Given the description of an element on the screen output the (x, y) to click on. 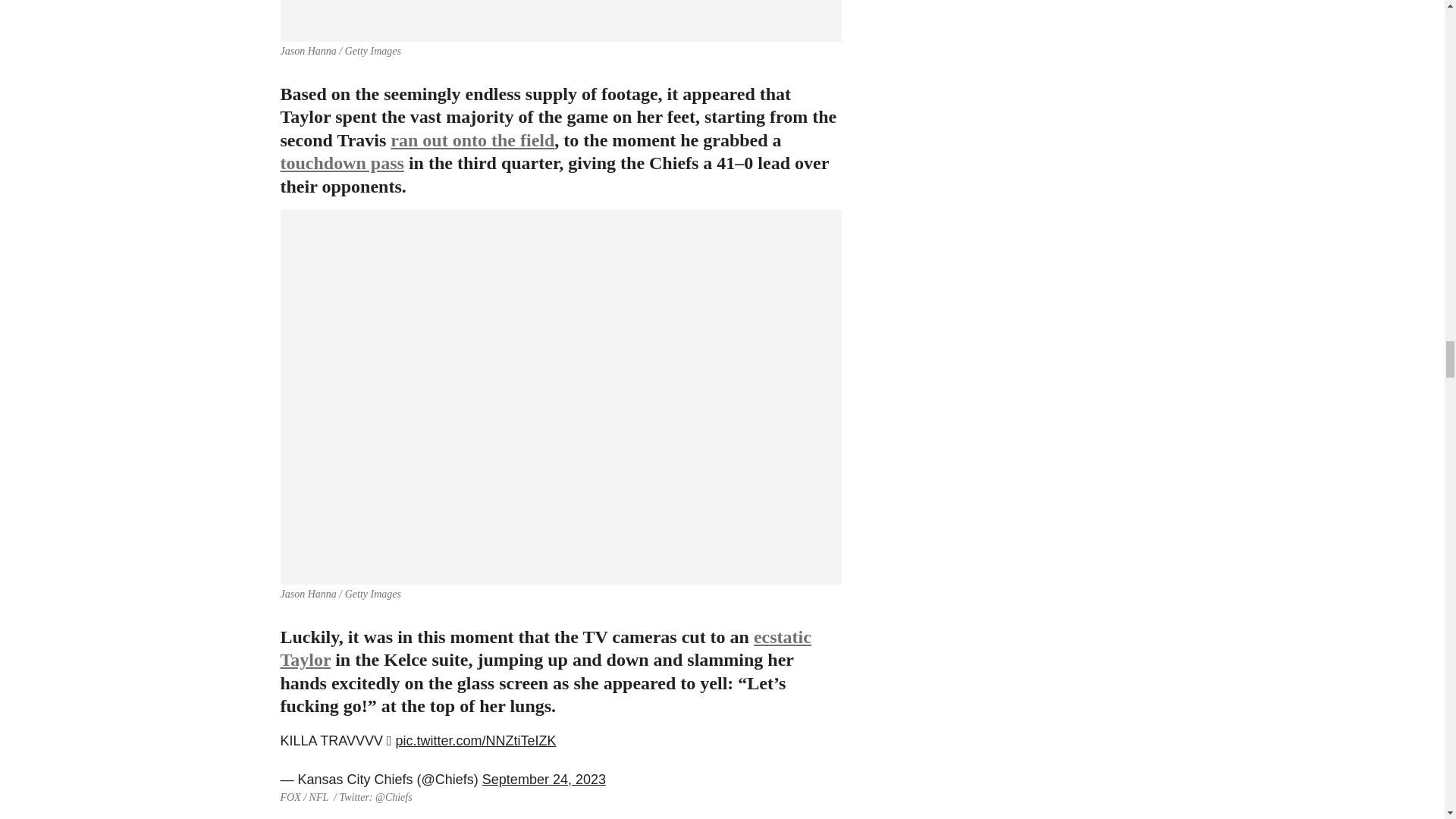
ecstatic Taylor (545, 648)
September 24, 2023 (543, 779)
ran out onto the field (472, 139)
touchdown pass (342, 162)
